Given the description of an element on the screen output the (x, y) to click on. 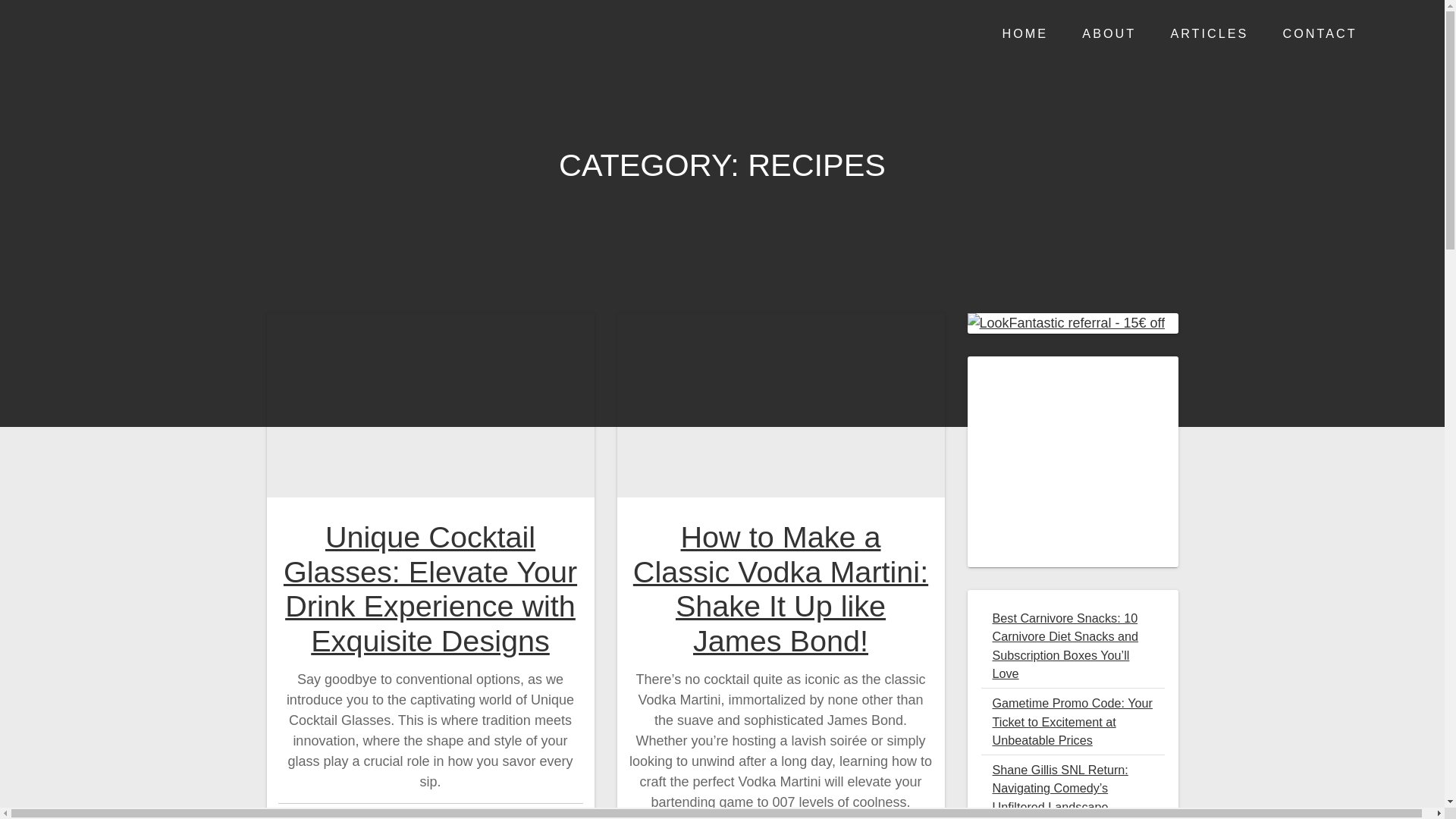
ARTICLES (1208, 33)
Sara Moura (362, 815)
CONTACT (1319, 33)
Posts by Sara Moura (362, 815)
